Given the description of an element on the screen output the (x, y) to click on. 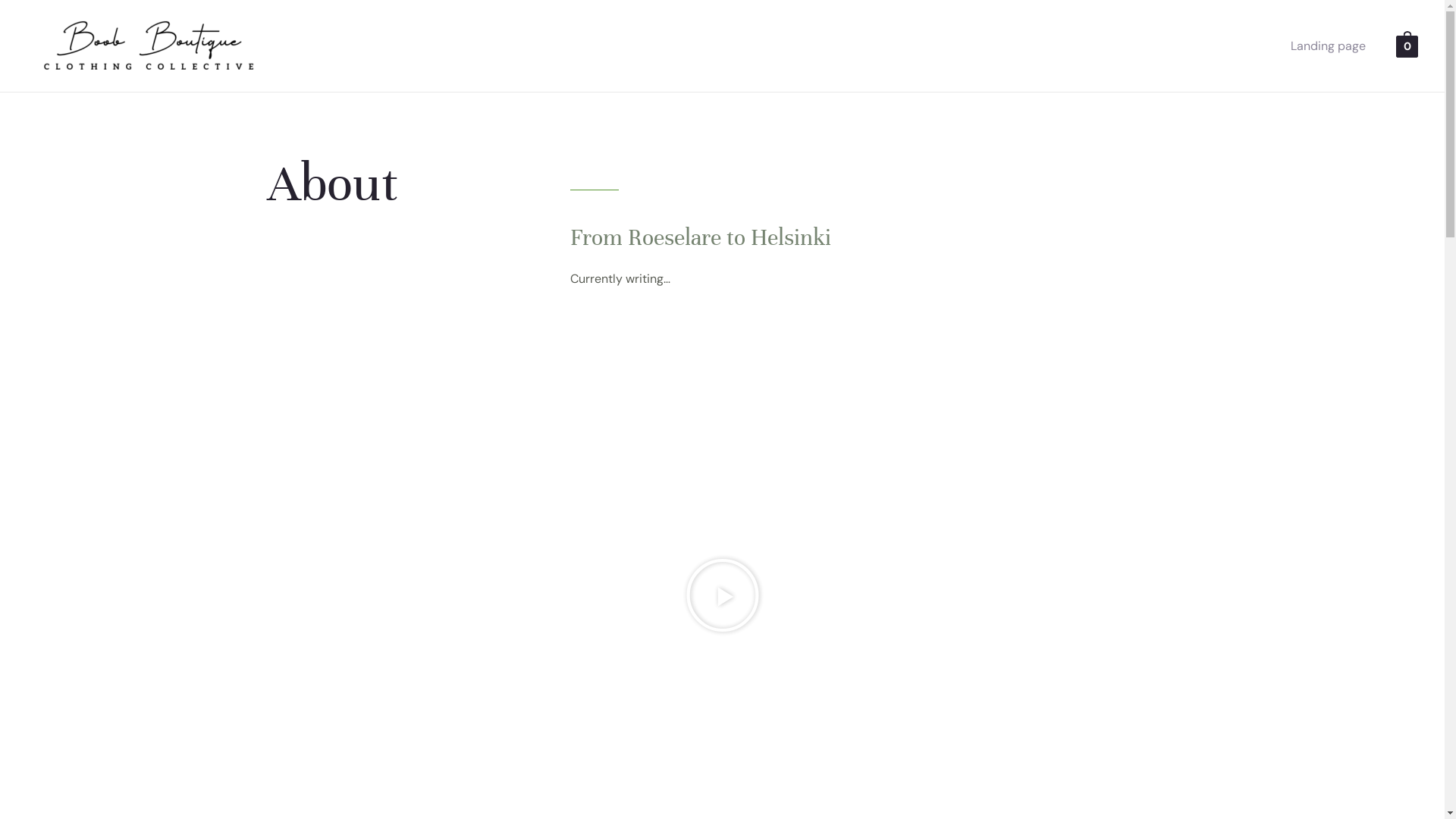
Landing page Element type: text (1327, 45)
0 Element type: text (1407, 45)
